Given the description of an element on the screen output the (x, y) to click on. 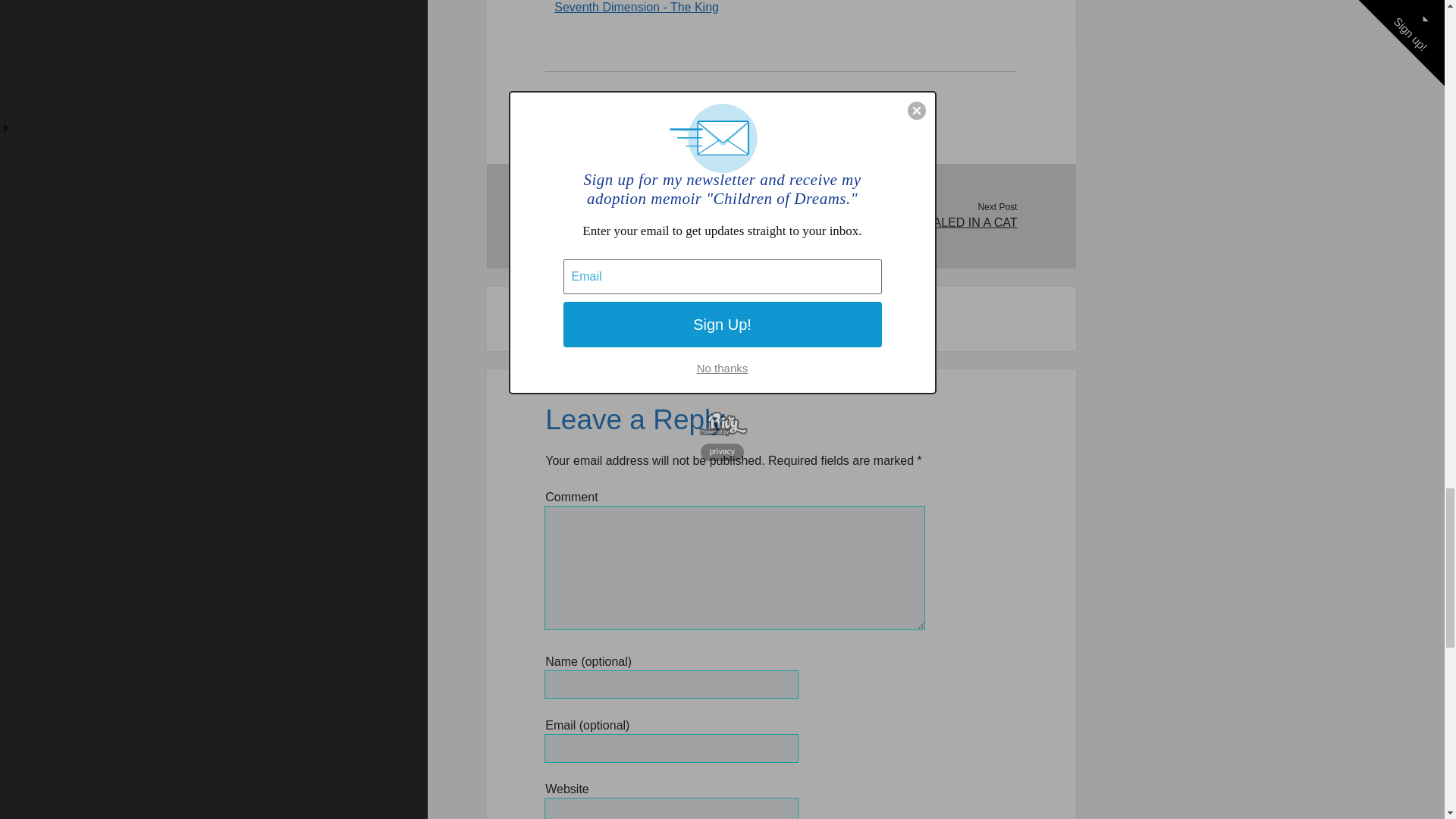
View all posts in Seventh Dimension - The King (636, 8)
